Given the description of an element on the screen output the (x, y) to click on. 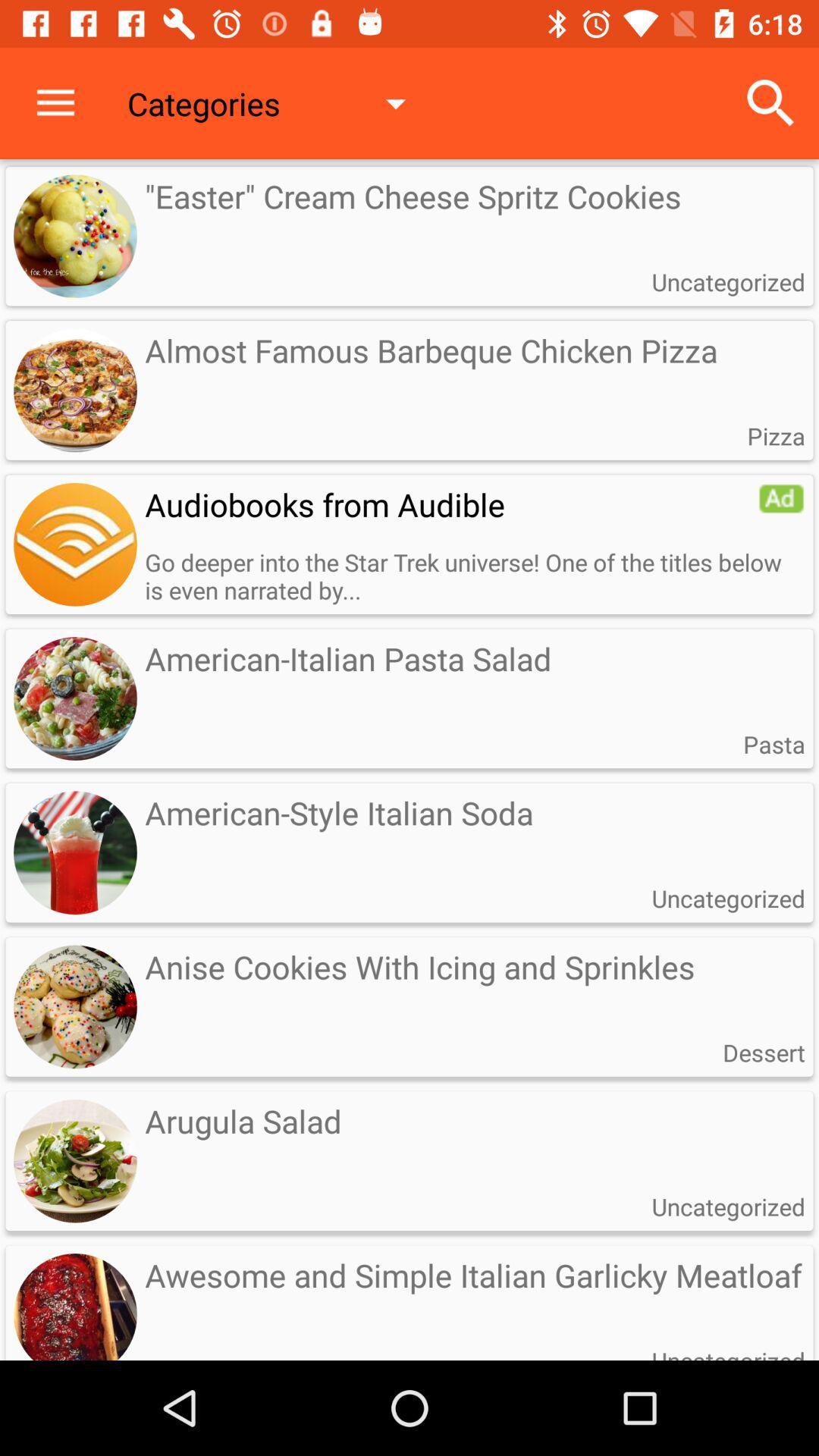
click advertisement (781, 498)
